Given the description of an element on the screen output the (x, y) to click on. 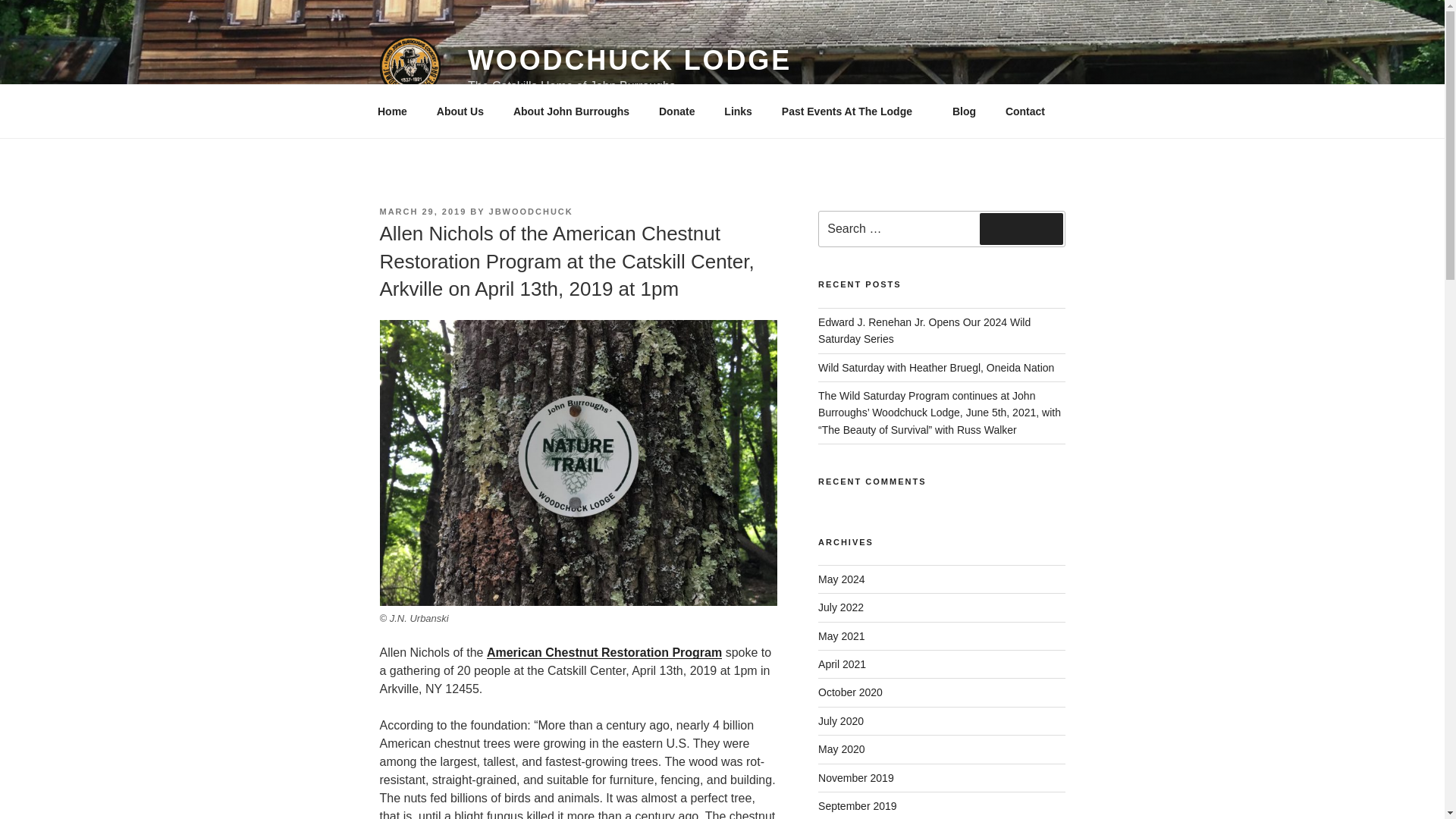
Contact (1024, 110)
April 2021 (842, 664)
Edward J. Renehan Jr. Opens Our 2024 Wild Saturday Series (924, 330)
Home (392, 110)
Links (738, 110)
Wild Saturday with Heather Bruegl, Oneida Nation (936, 367)
WOODCHUCK LODGE (629, 60)
About Us (459, 110)
November 2019 (855, 777)
July 2022 (840, 607)
